Given the description of an element on the screen output the (x, y) to click on. 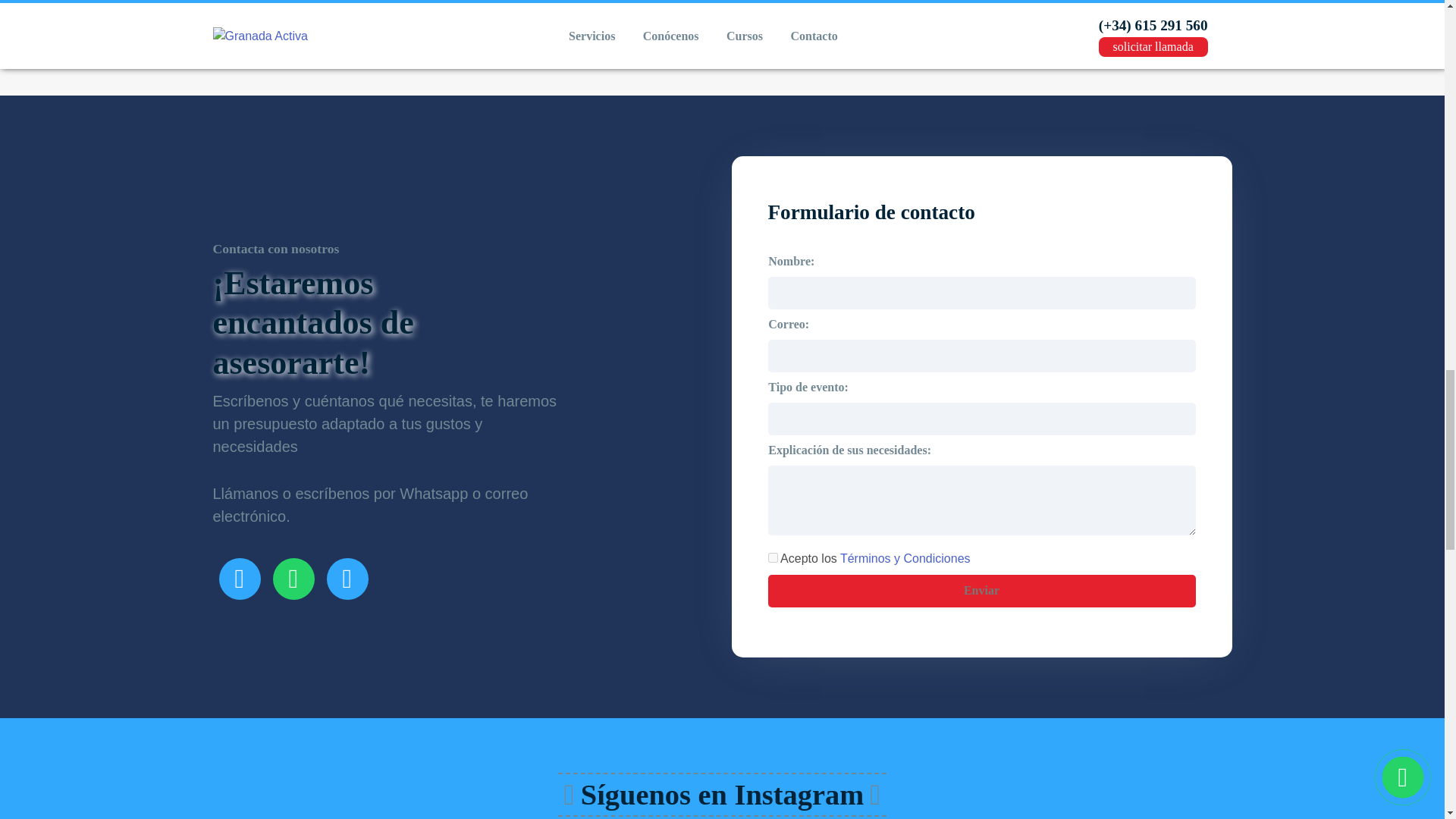
Email (347, 578)
on (772, 557)
Enviar (981, 590)
Whatsapp (293, 578)
